Given the description of an element on the screen output the (x, y) to click on. 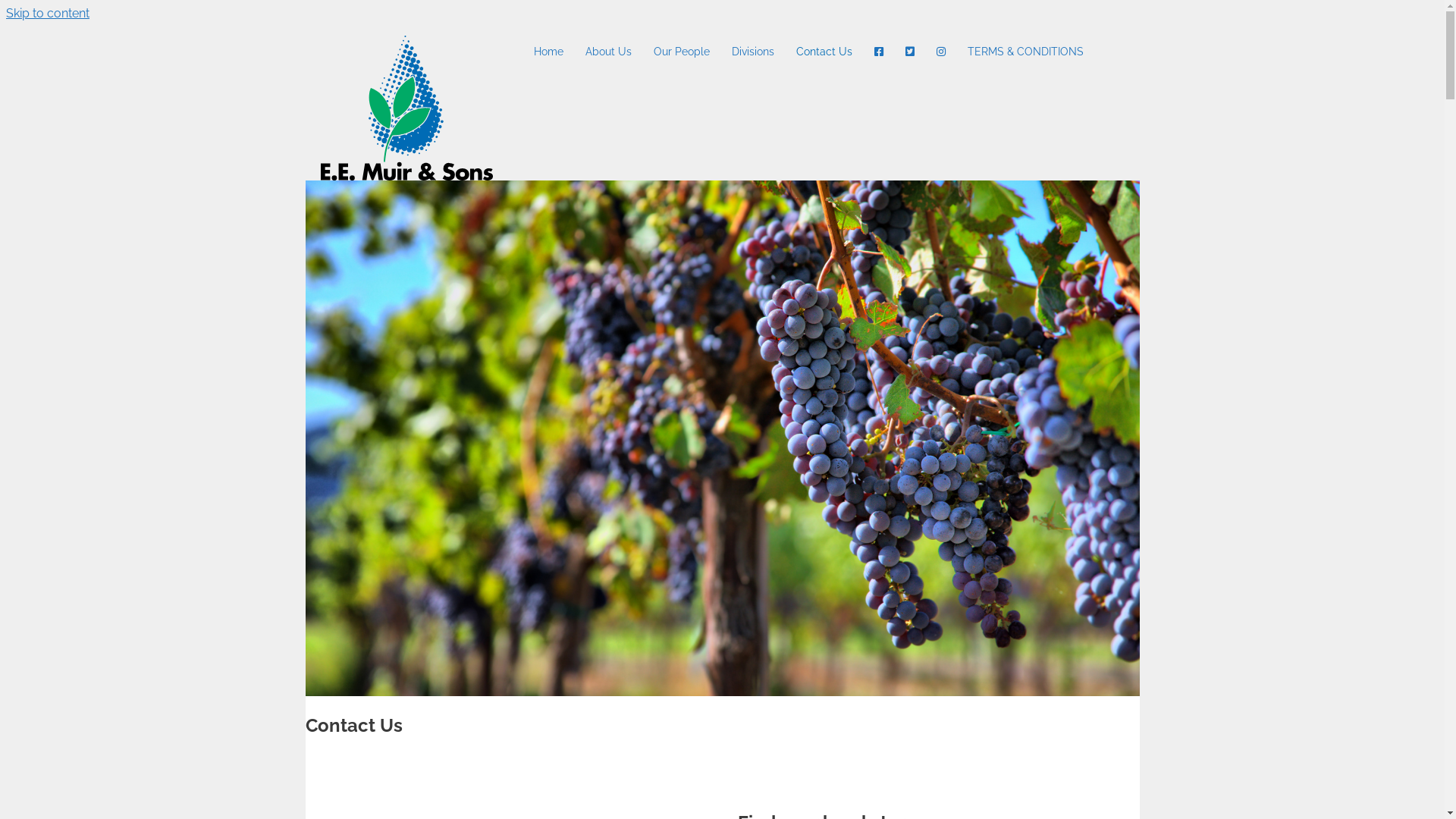
Divisions Element type: text (752, 51)
Our People Element type: text (681, 51)
logo Element type: hover (406, 107)
Contact Us Element type: text (823, 51)
TERMS & CONDITIONS Element type: text (1025, 51)
Home Element type: text (548, 51)
Skip to content Element type: text (47, 13)
About Us Element type: text (608, 51)
